Given the description of an element on the screen output the (x, y) to click on. 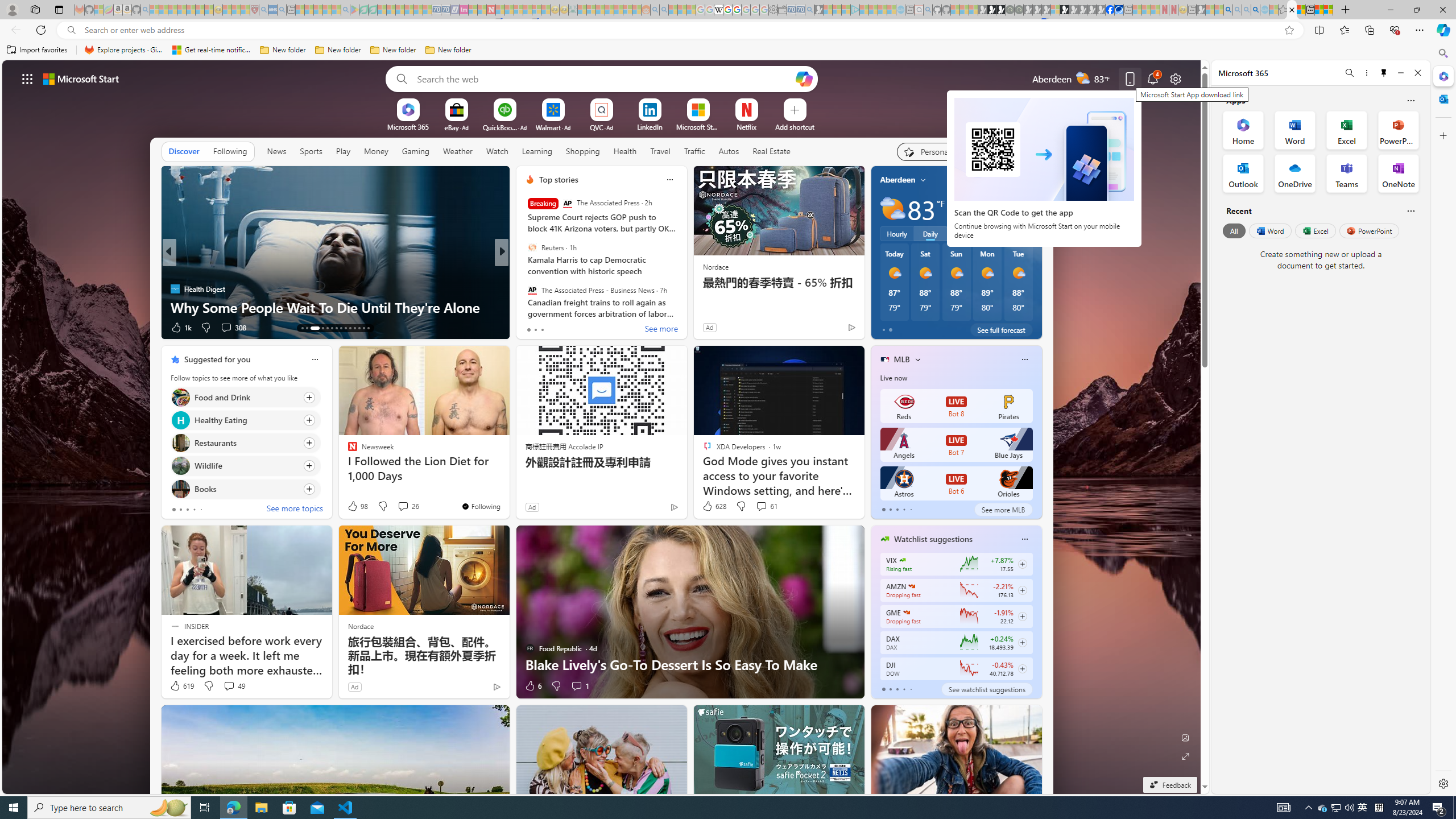
186 Like (532, 327)
Add a site (793, 126)
Expect light rain next Wednesday (1028, 208)
View comments 67 Comment (576, 327)
My location (922, 179)
Outlook Office App (1243, 172)
Personalize your feed" (931, 151)
